Given the description of an element on the screen output the (x, y) to click on. 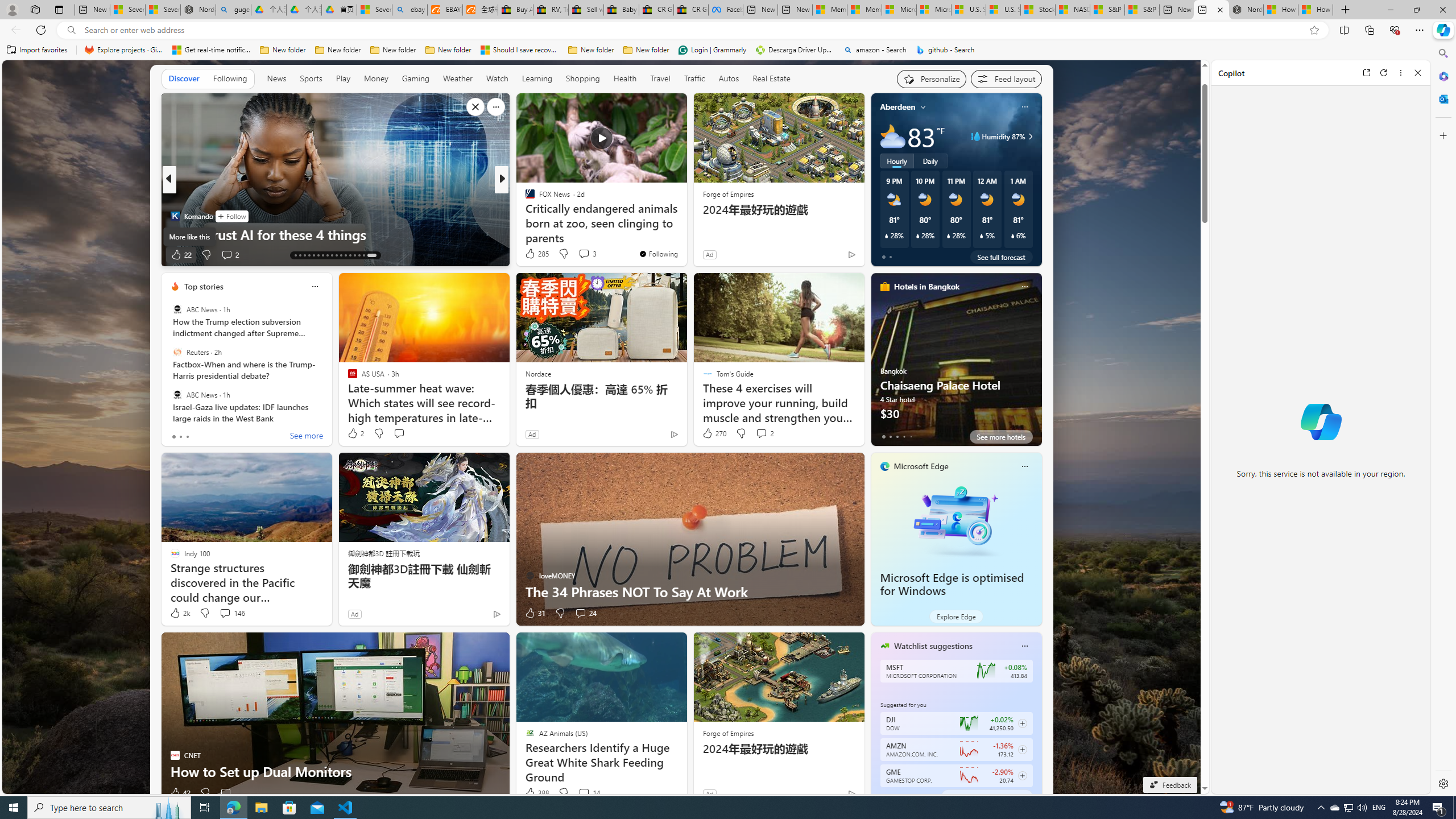
Mostly cloudy (892, 136)
Watch (496, 78)
See more (672, 106)
Real Estate (771, 78)
Mostly cloudy (892, 136)
Hide this story (652, 106)
github - Search (945, 49)
285 Like (536, 253)
View comments 3 Comment (587, 253)
Watch (497, 79)
Money (376, 78)
Buy Auto Parts & Accessories | eBay (515, 9)
